Given the description of an element on the screen output the (x, y) to click on. 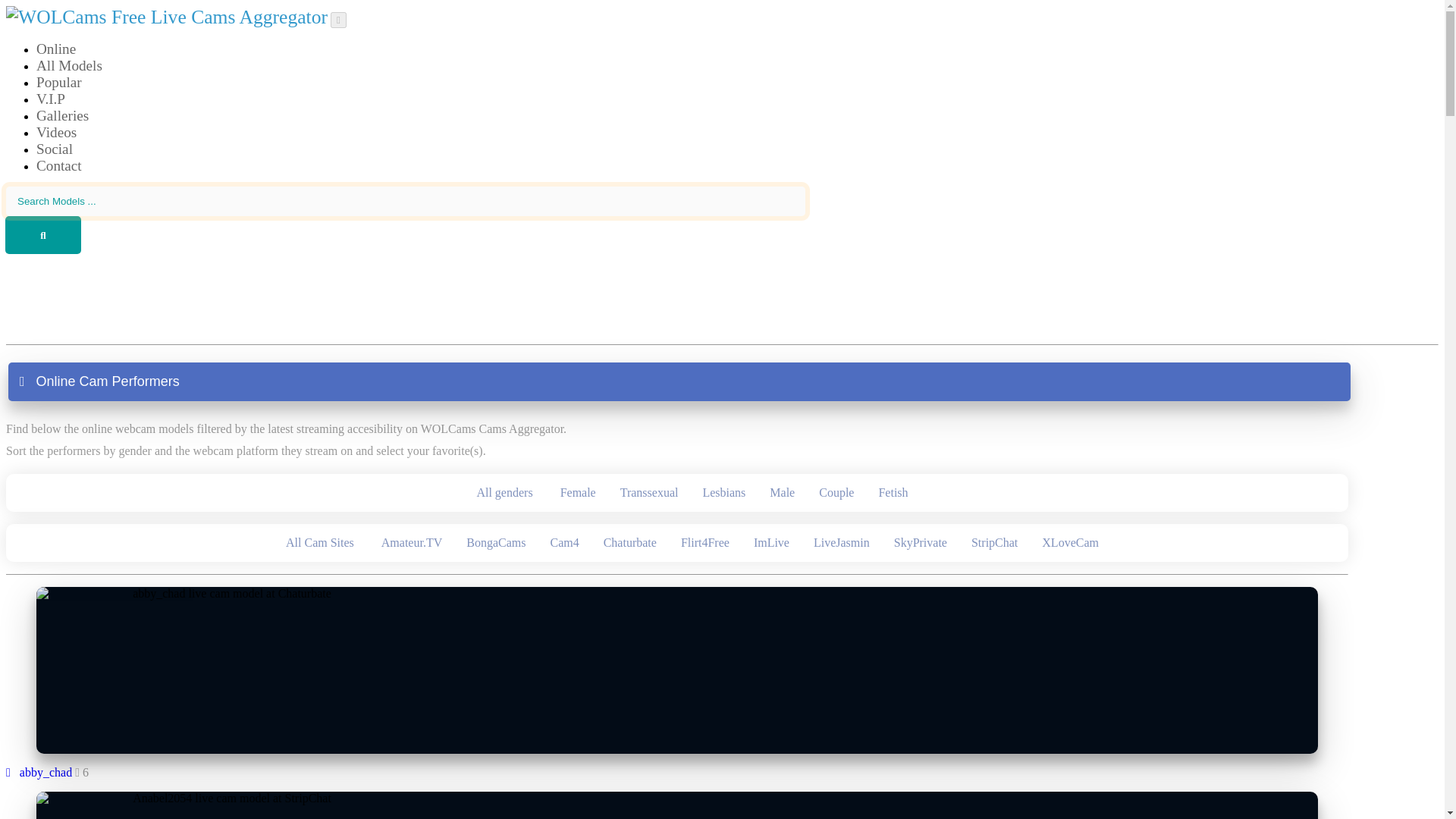
Filter by Transsexual cam  models (649, 492)
Live Cams Photo Albums (62, 116)
Filter by Lesbians cam  models (723, 492)
Featured and Promoted WebCam Models (50, 99)
All Models (68, 66)
Videos (56, 133)
Online Webcam performers on BongaCams (495, 542)
Transsexual (649, 492)
Flirt4Free (704, 542)
Contact WOLCams (58, 167)
Over 2 million free live webcam performers (68, 66)
Online (55, 49)
SkyPrivate (920, 542)
  Online Cam Performers (679, 381)
Online WebCams (55, 49)
